Given the description of an element on the screen output the (x, y) to click on. 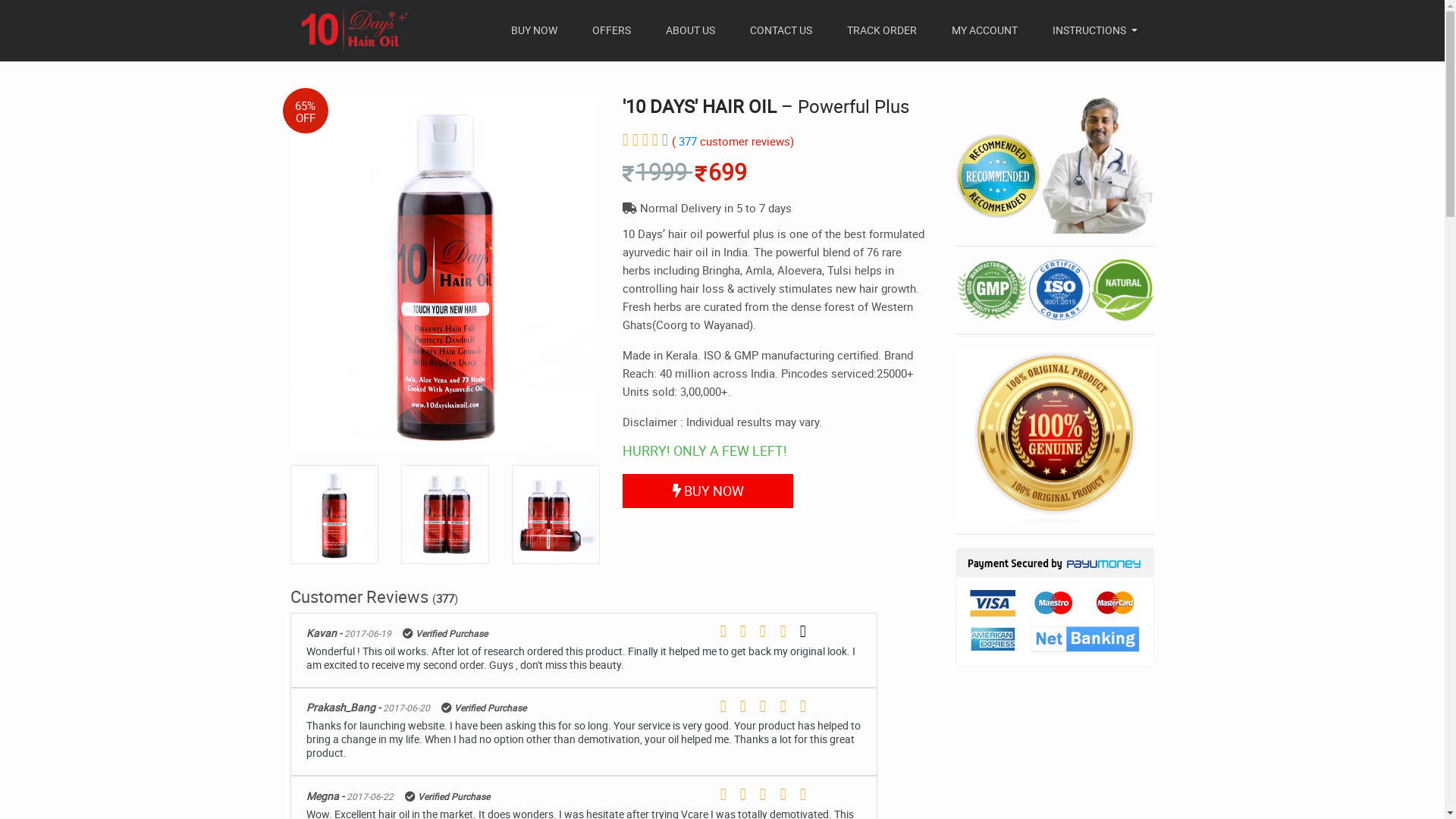
100% doctor recomended Element type: hover (1054, 164)
payment secure Element type: hover (1054, 606)
INSTRUCTIONS Element type: text (1094, 30)
TRACK ORDER Element type: text (881, 30)
100% orginal product Element type: hover (1054, 434)
MY ACCOUNT Element type: text (984, 30)
100% customer satisfaction Element type: hover (1054, 289)
ABOUT US Element type: text (690, 30)
( 377 customer reviews) Element type: text (732, 140)
BUY NOW
(CURRENT) Element type: text (534, 30)
BUY NOW Element type: text (707, 490)
10 Days Hair Oil Element type: hover (354, 30)
OFFERS Element type: text (611, 30)
CONTACT US Element type: text (780, 30)
